Given the description of an element on the screen output the (x, y) to click on. 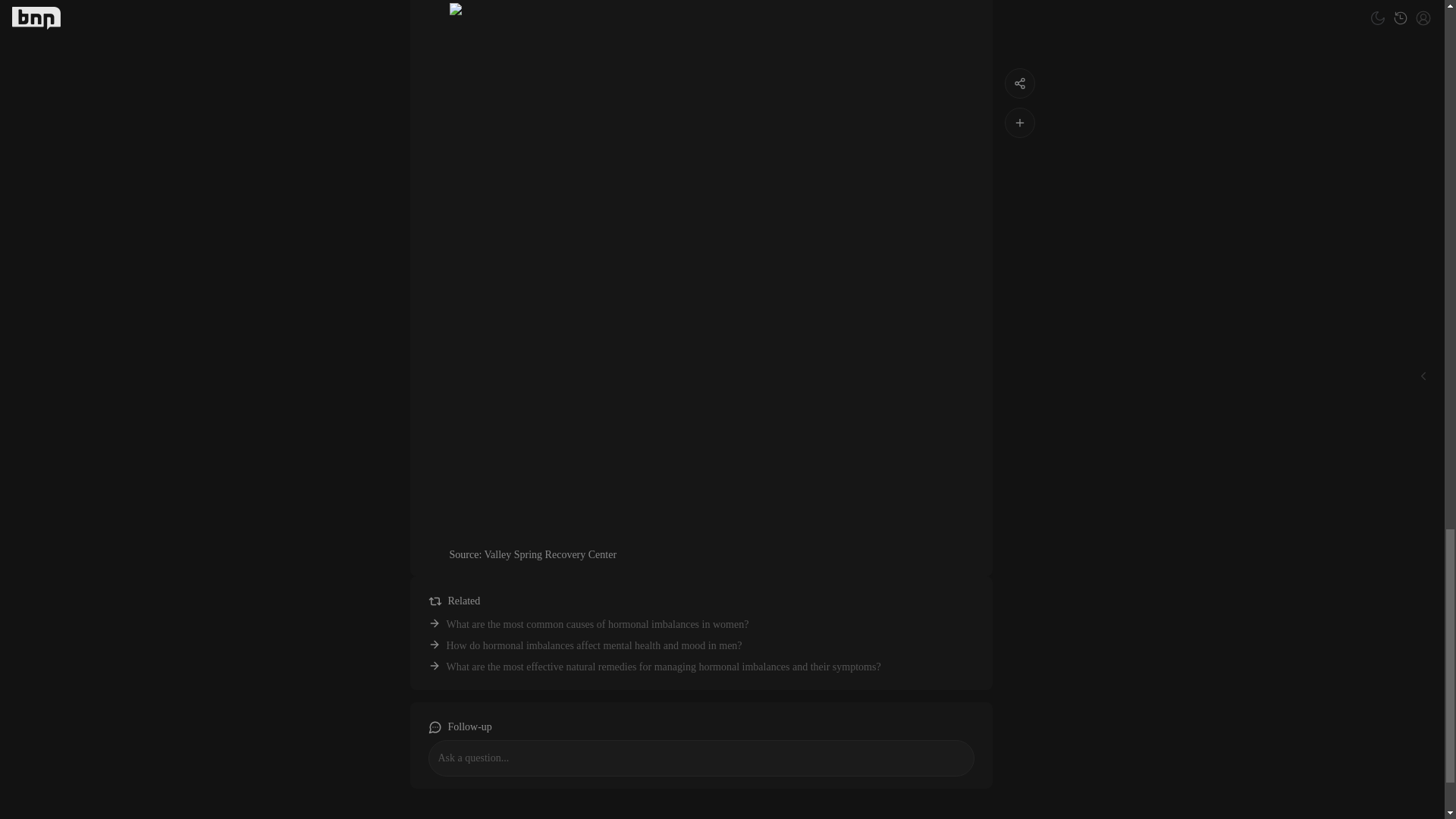
Valley Spring Recovery Center (550, 554)
